Given the description of an element on the screen output the (x, y) to click on. 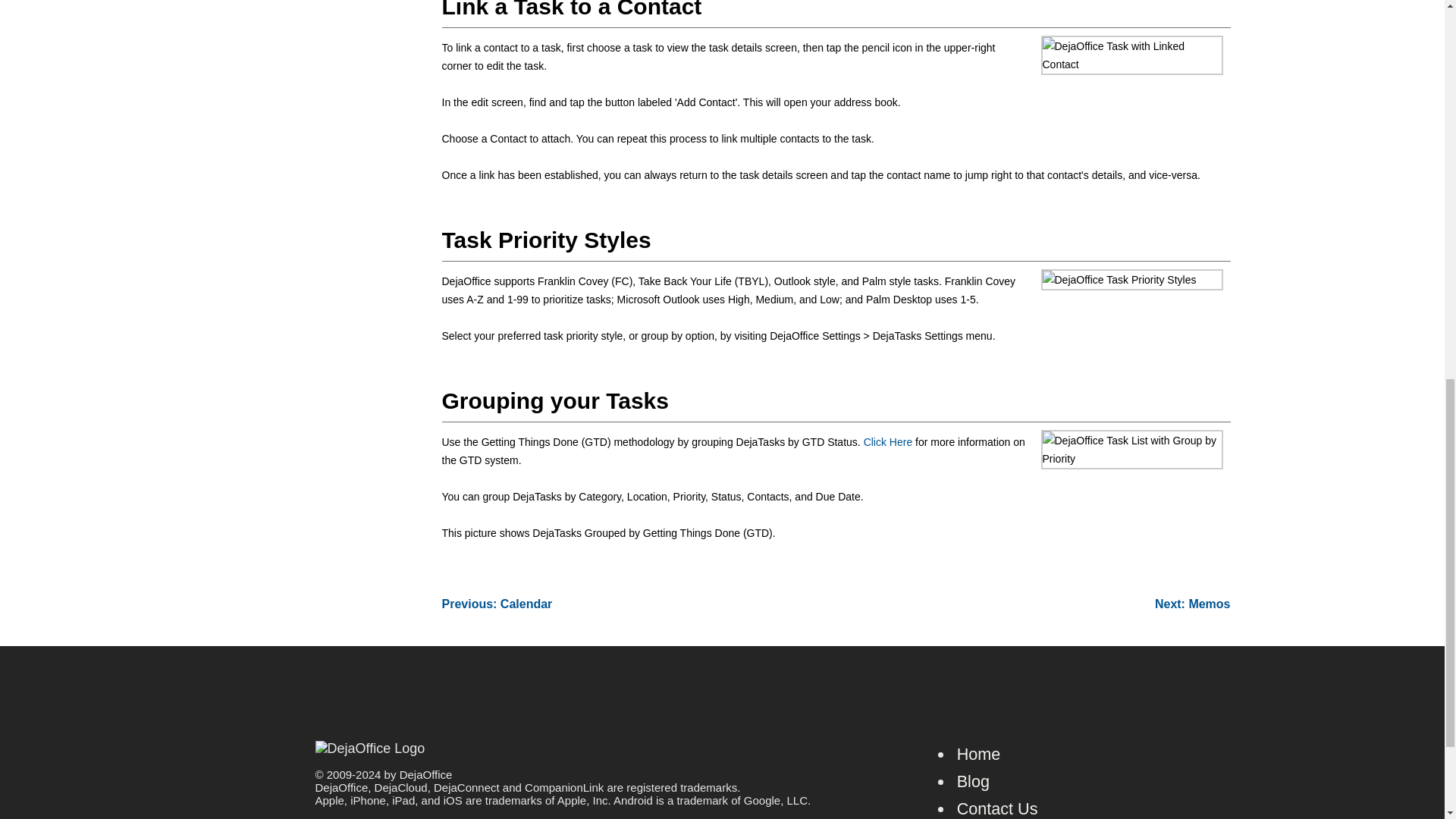
Home Page (978, 753)
Blog (973, 781)
Tech Support (997, 808)
